Given the description of an element on the screen output the (x, y) to click on. 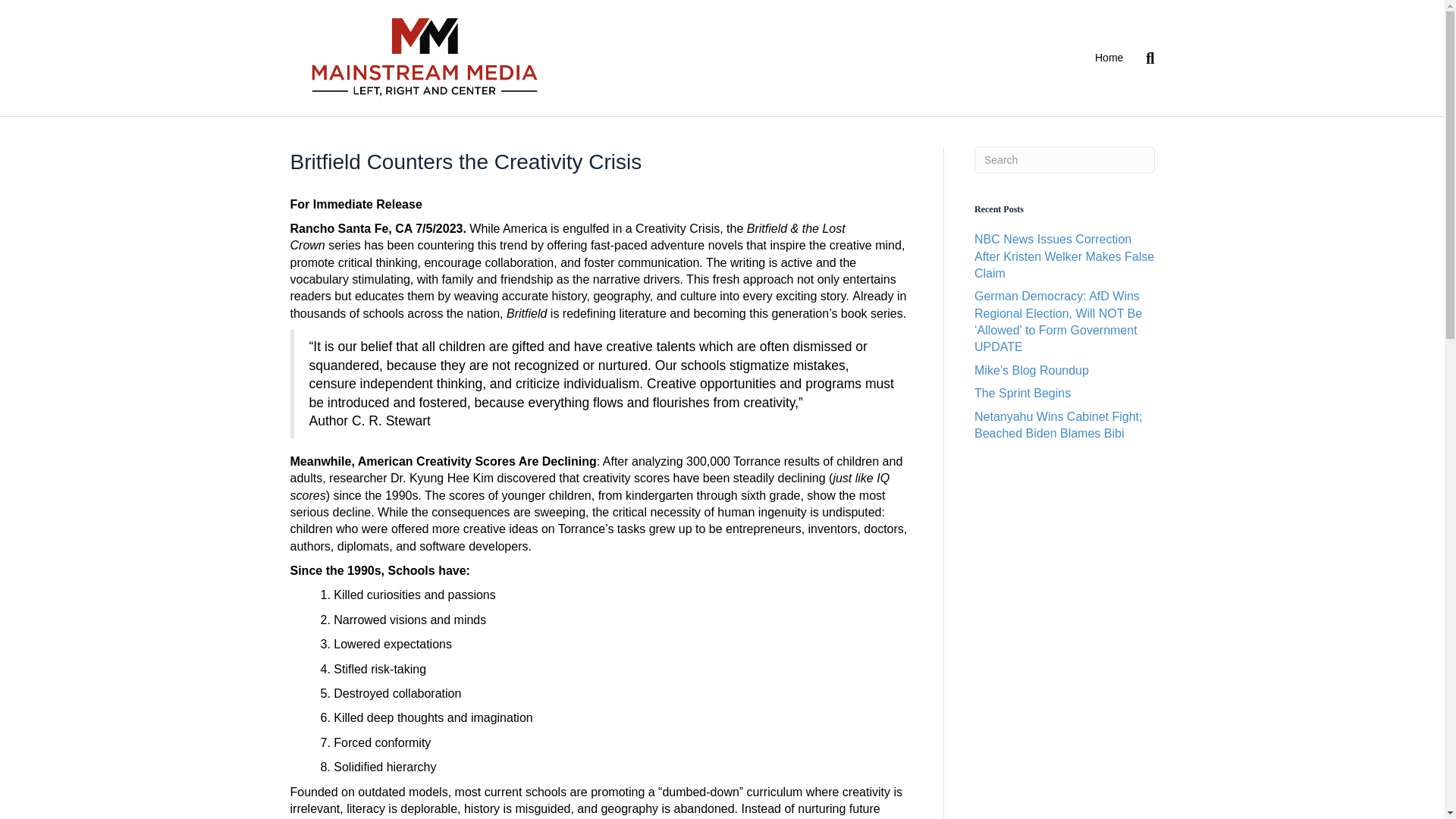
The Sprint Begins (1022, 392)
Home (1108, 57)
Type and press Enter to search. (1064, 159)
Netanyahu Wins Cabinet Fight; Beached Biden Blames Bibi (1057, 424)
